Given the description of an element on the screen output the (x, y) to click on. 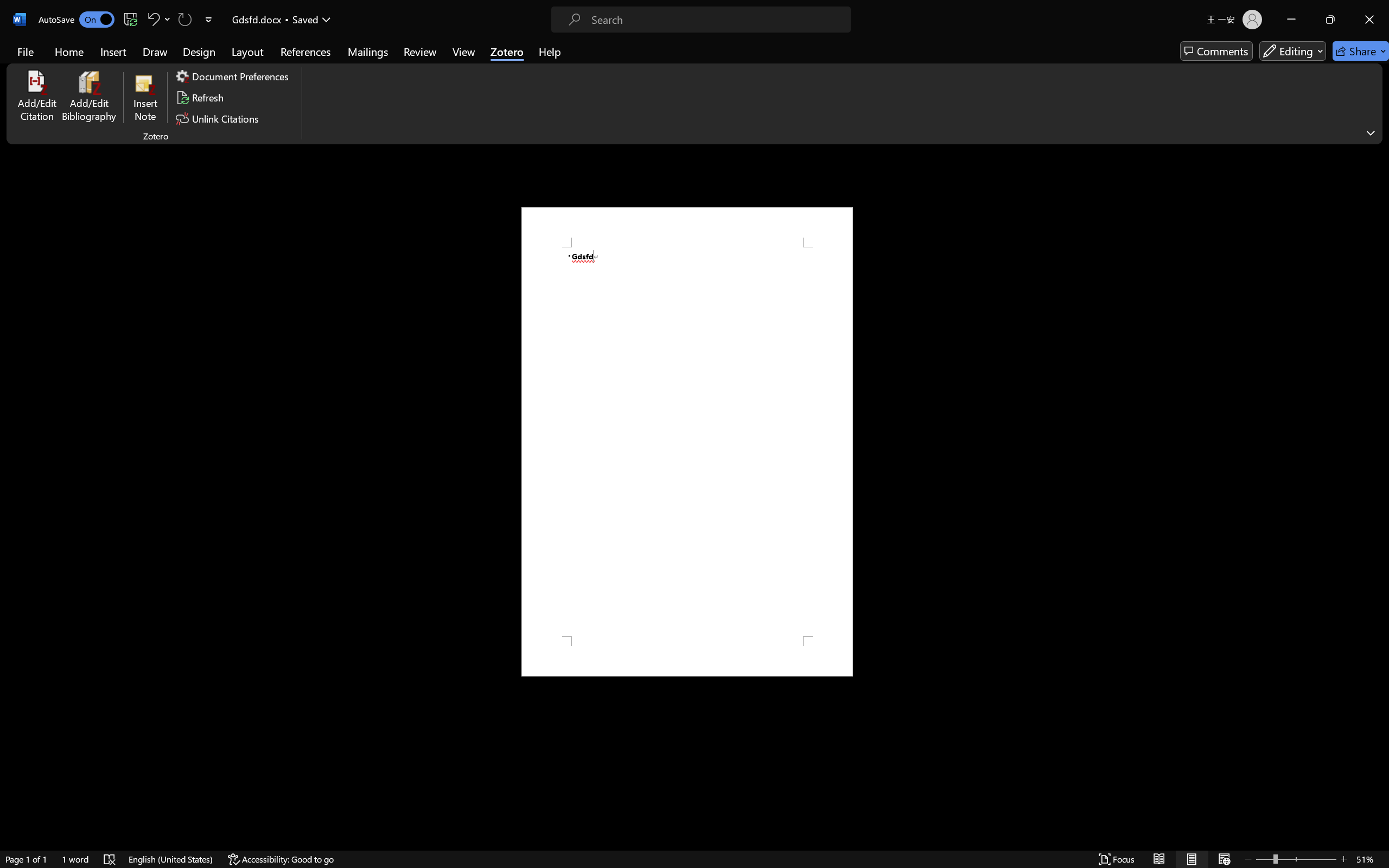
Page 1 content (686, 441)
